Given the description of an element on the screen output the (x, y) to click on. 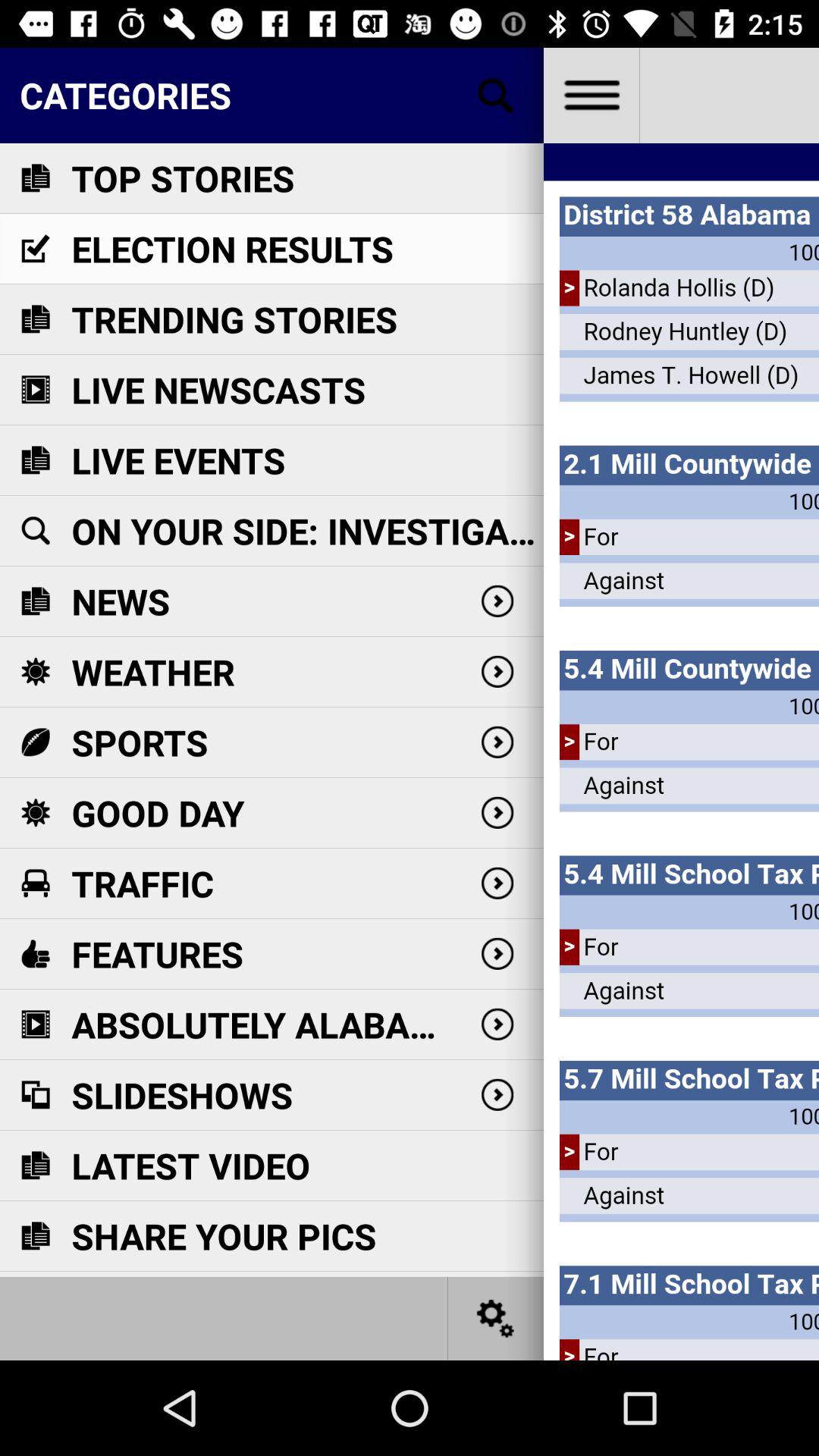
modify settings (495, 1318)
